Given the description of an element on the screen output the (x, y) to click on. 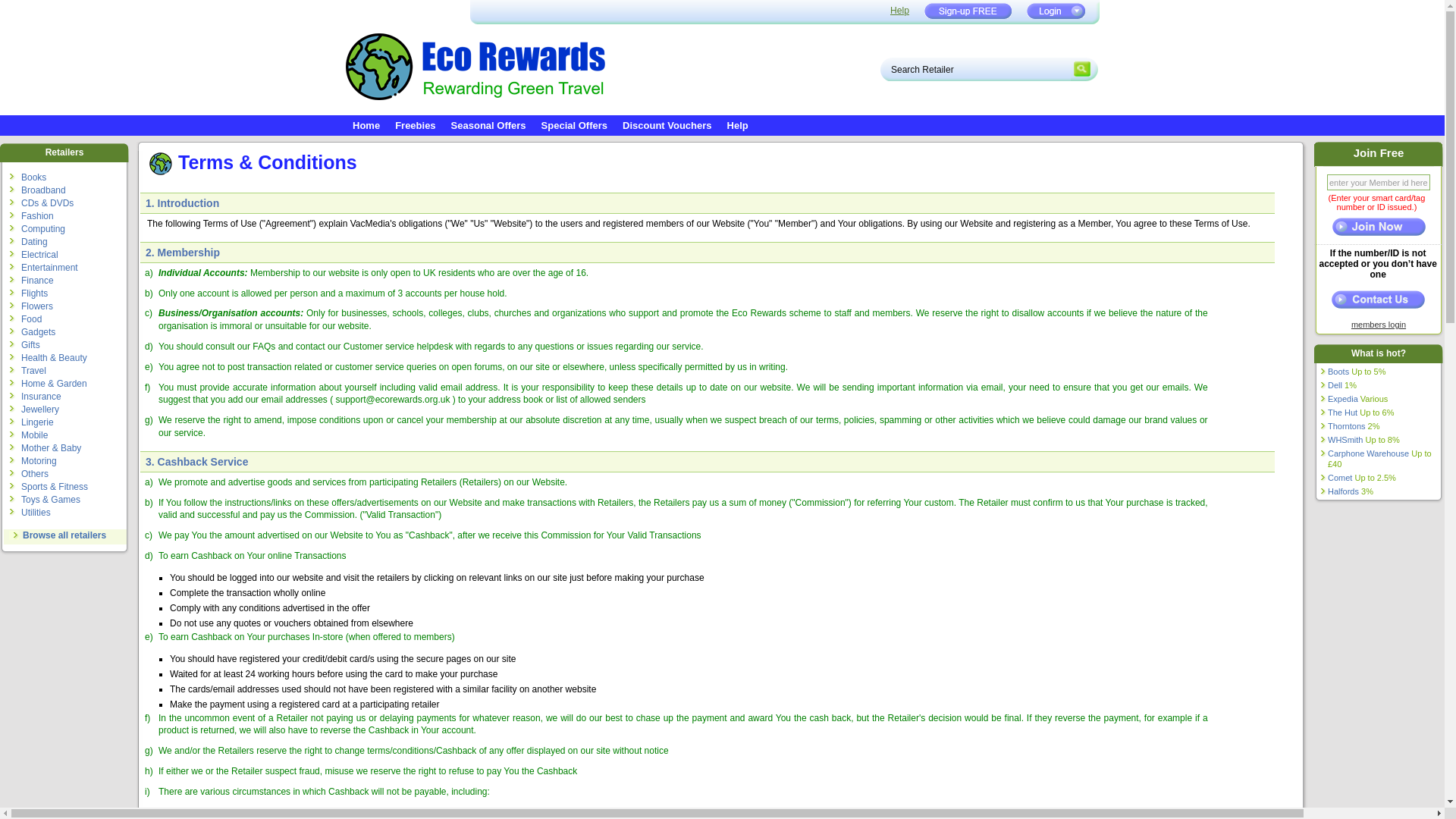
Echorewards home (366, 123)
Electrical (39, 254)
enter your Member id here (1377, 182)
Fashion (37, 215)
Others (34, 473)
Help (898, 9)
Fashion (37, 215)
Search Retailer (975, 69)
Login (1055, 10)
Finance (37, 280)
Home (366, 123)
Books (33, 176)
Special Offers (574, 123)
Freebies (414, 123)
Search (1083, 69)
